Given the description of an element on the screen output the (x, y) to click on. 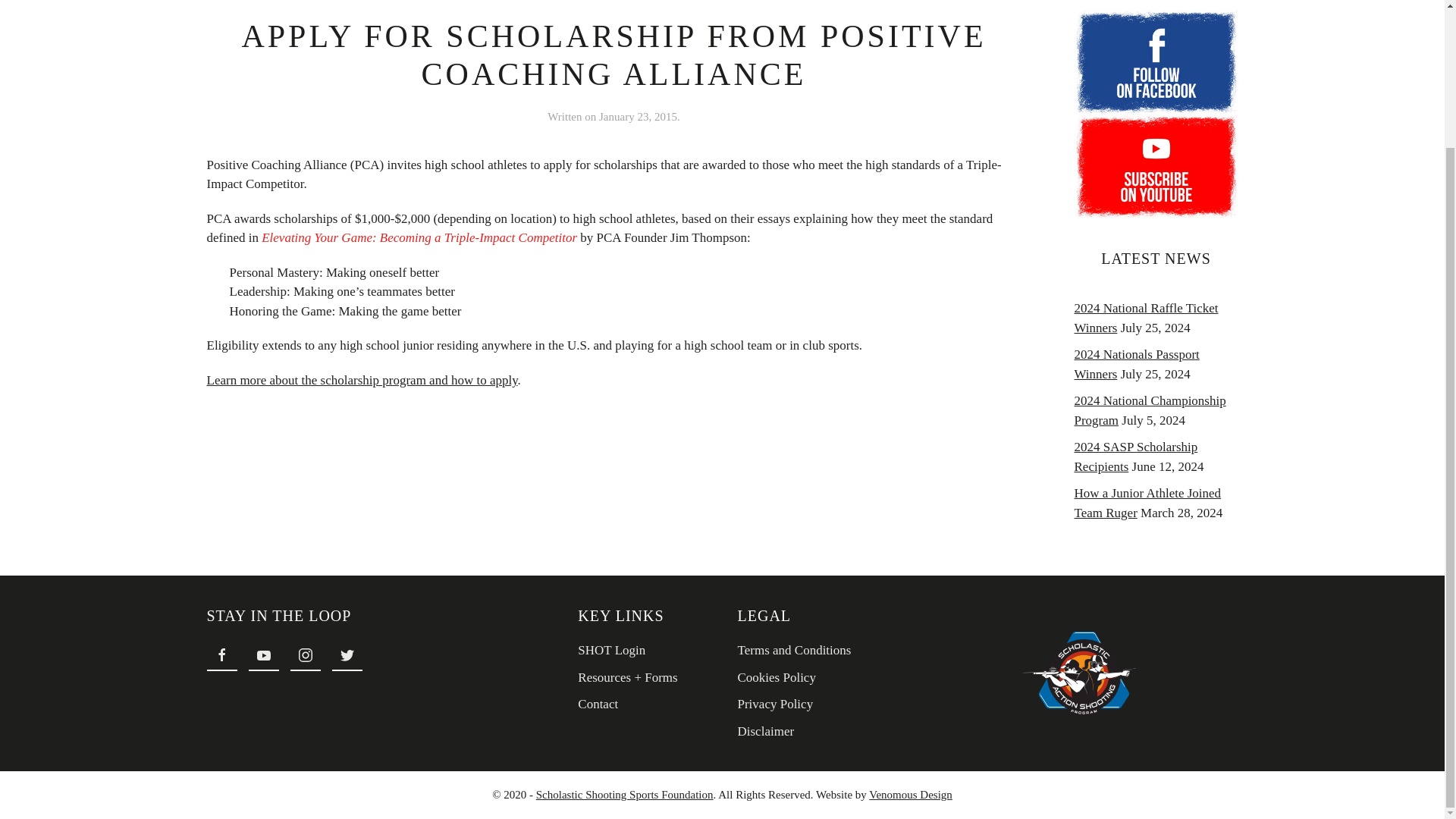
APPLY FOR SCHOLARSHIP FROM POSITIVE COACHING ALLIANCE (613, 54)
STAY IN THE LOOP (365, 615)
